Given the description of an element on the screen output the (x, y) to click on. 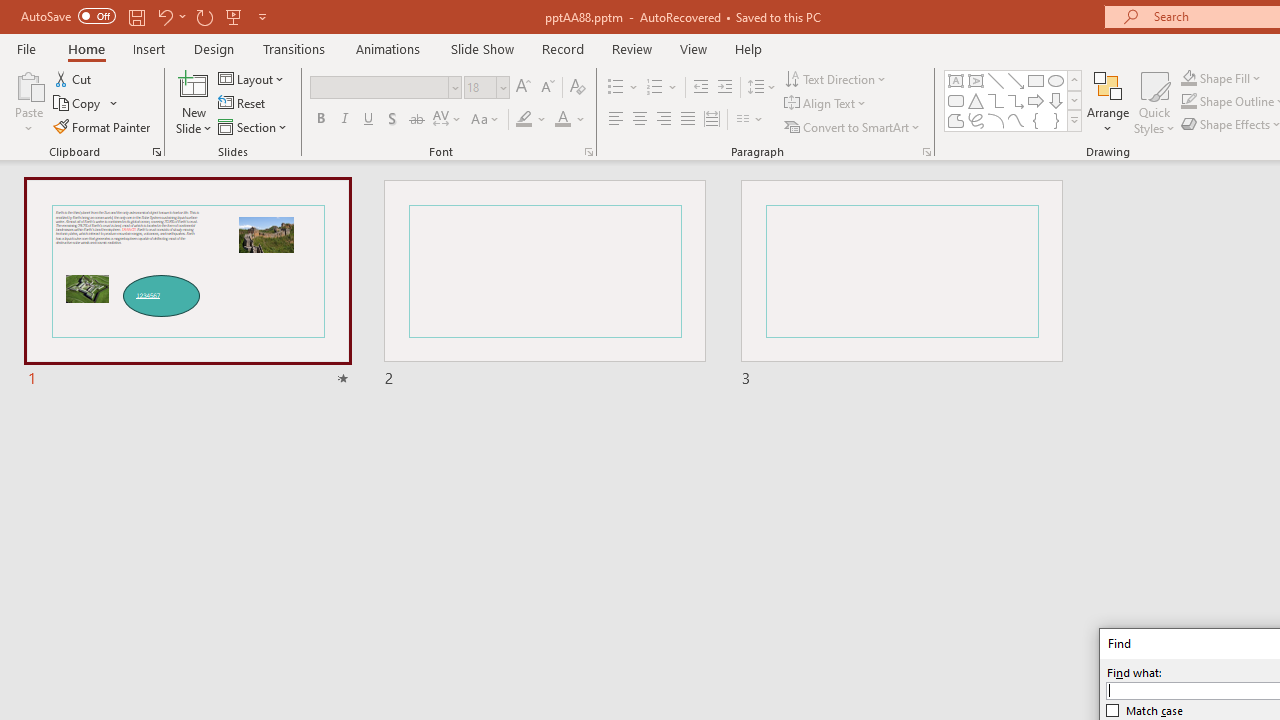
Shape Fill Aqua, Accent 2 (1188, 78)
